Given the description of an element on the screen output the (x, y) to click on. 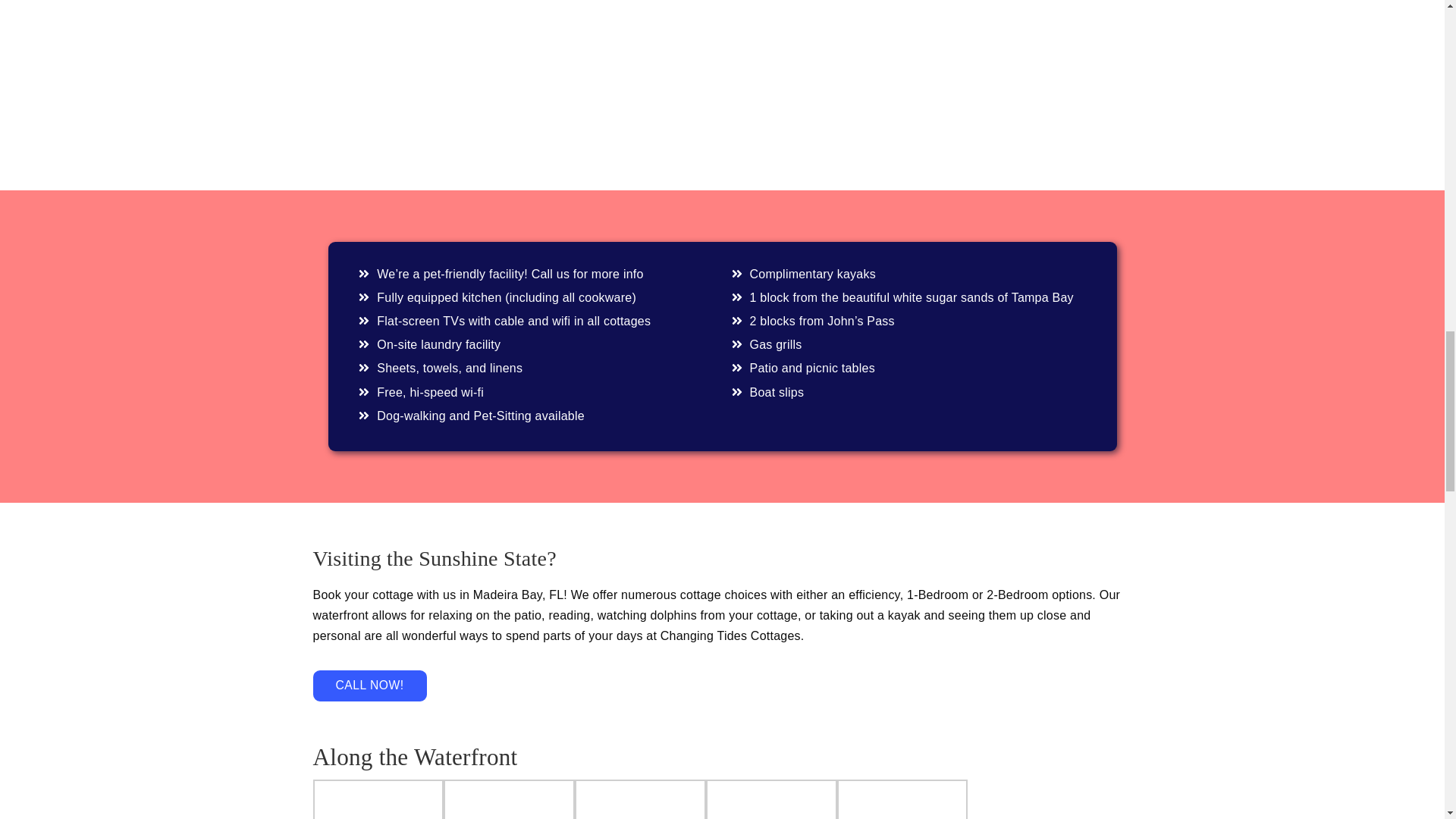
CALL NOW! (369, 685)
